Given the description of an element on the screen output the (x, y) to click on. 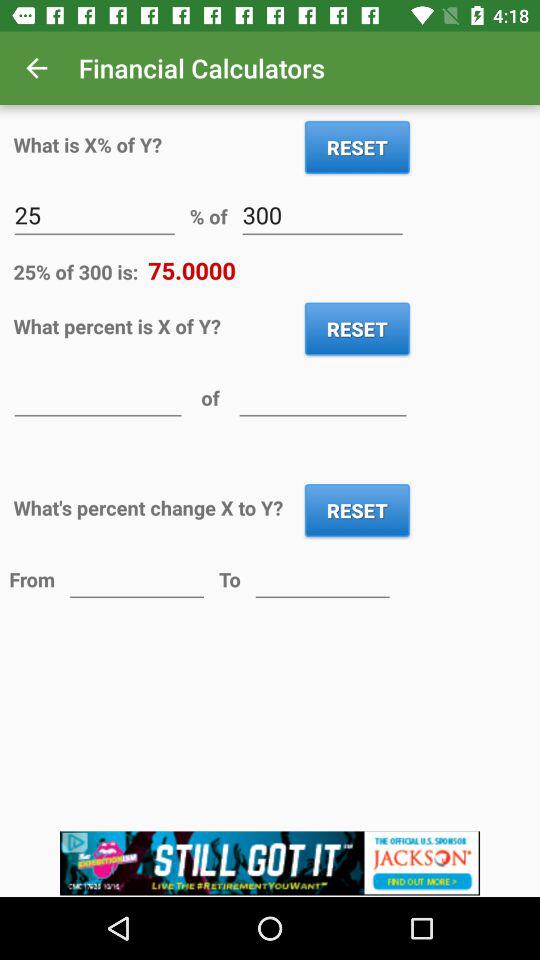
adds (270, 864)
